Given the description of an element on the screen output the (x, y) to click on. 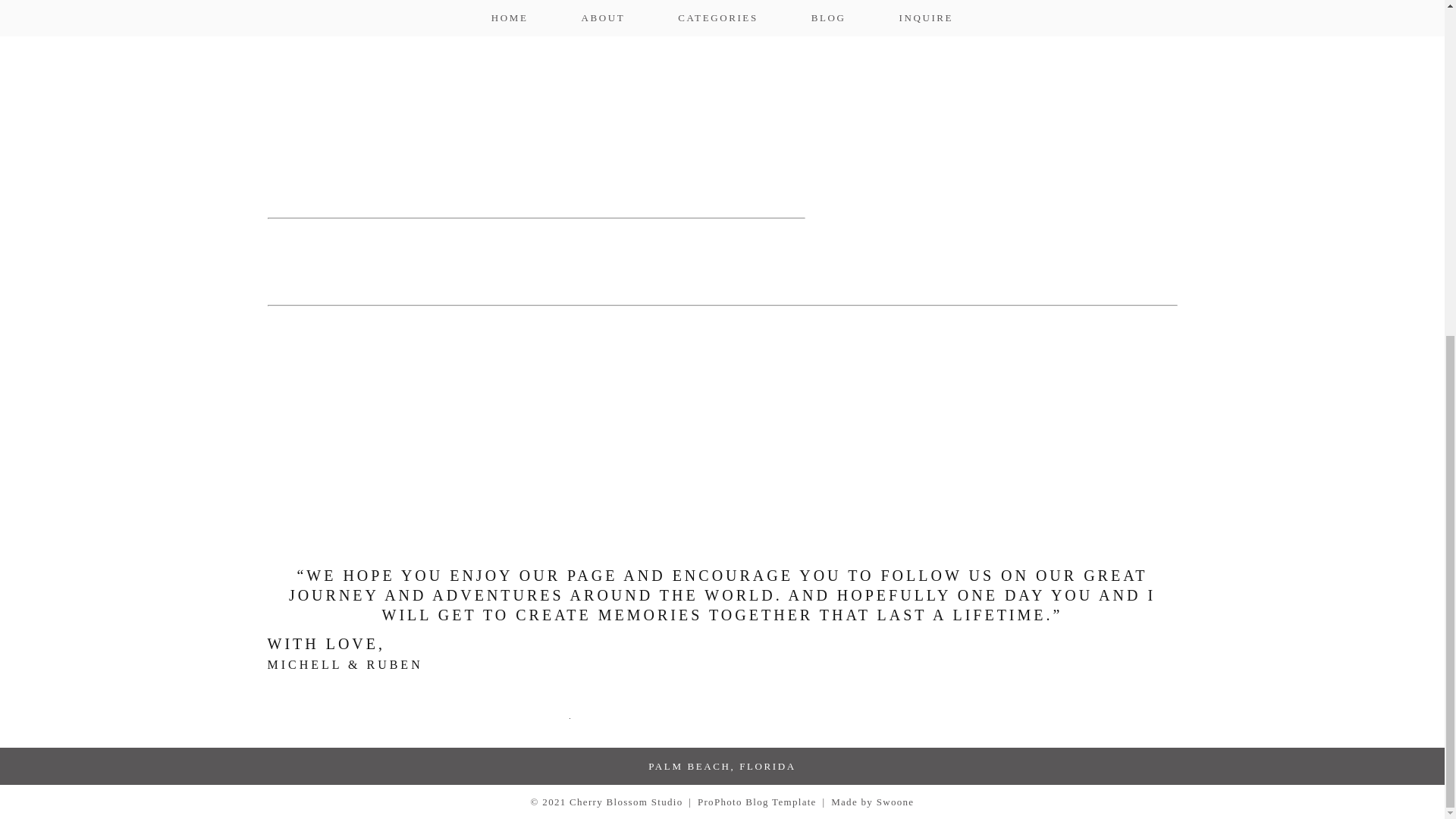
ProPhoto Blog Template (756, 801)
ProPhoto Website (756, 801)
Made by Swoone (872, 801)
